Given the description of an element on the screen output the (x, y) to click on. 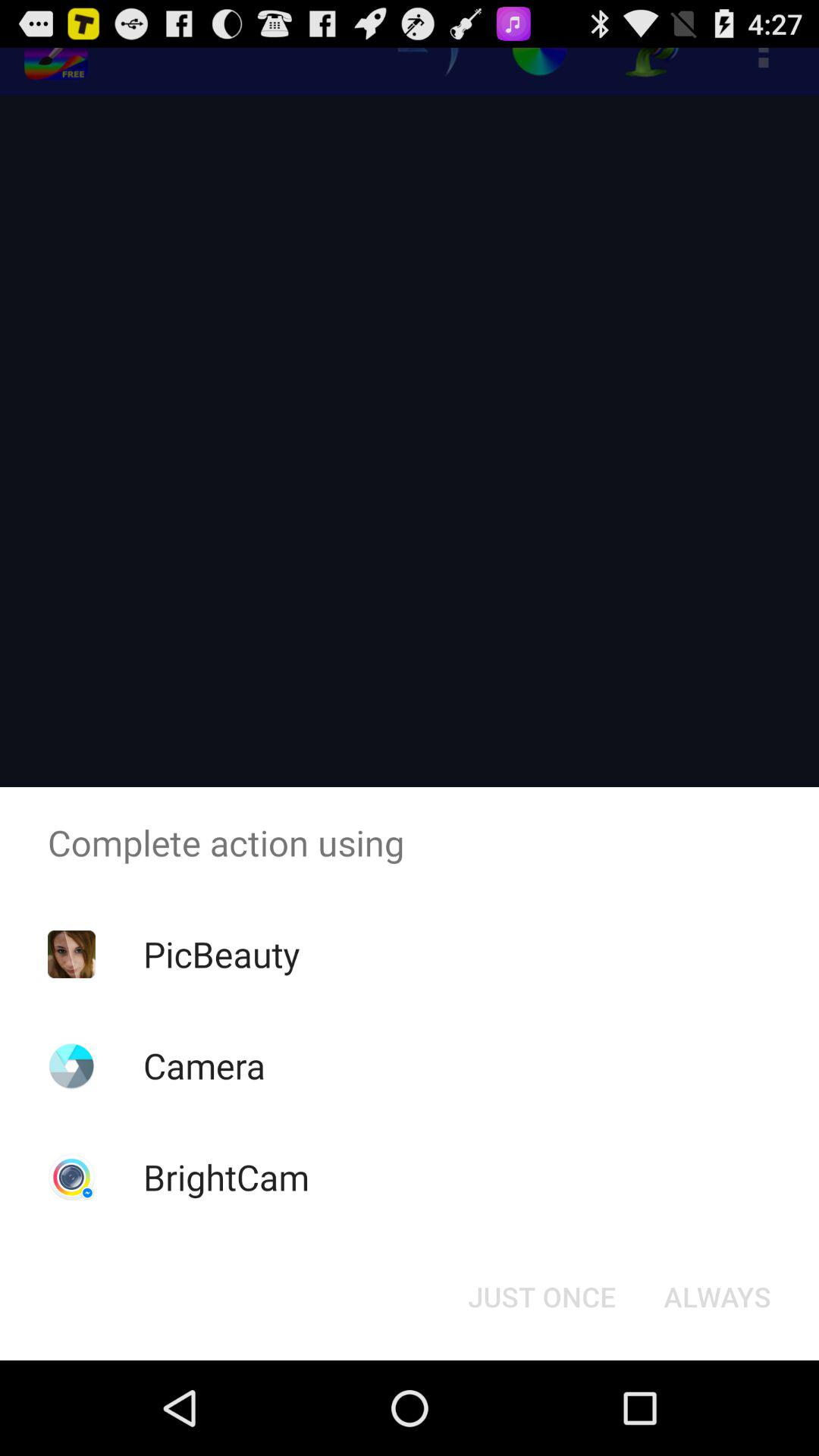
turn off icon to the right of just once (717, 1296)
